Given the description of an element on the screen output the (x, y) to click on. 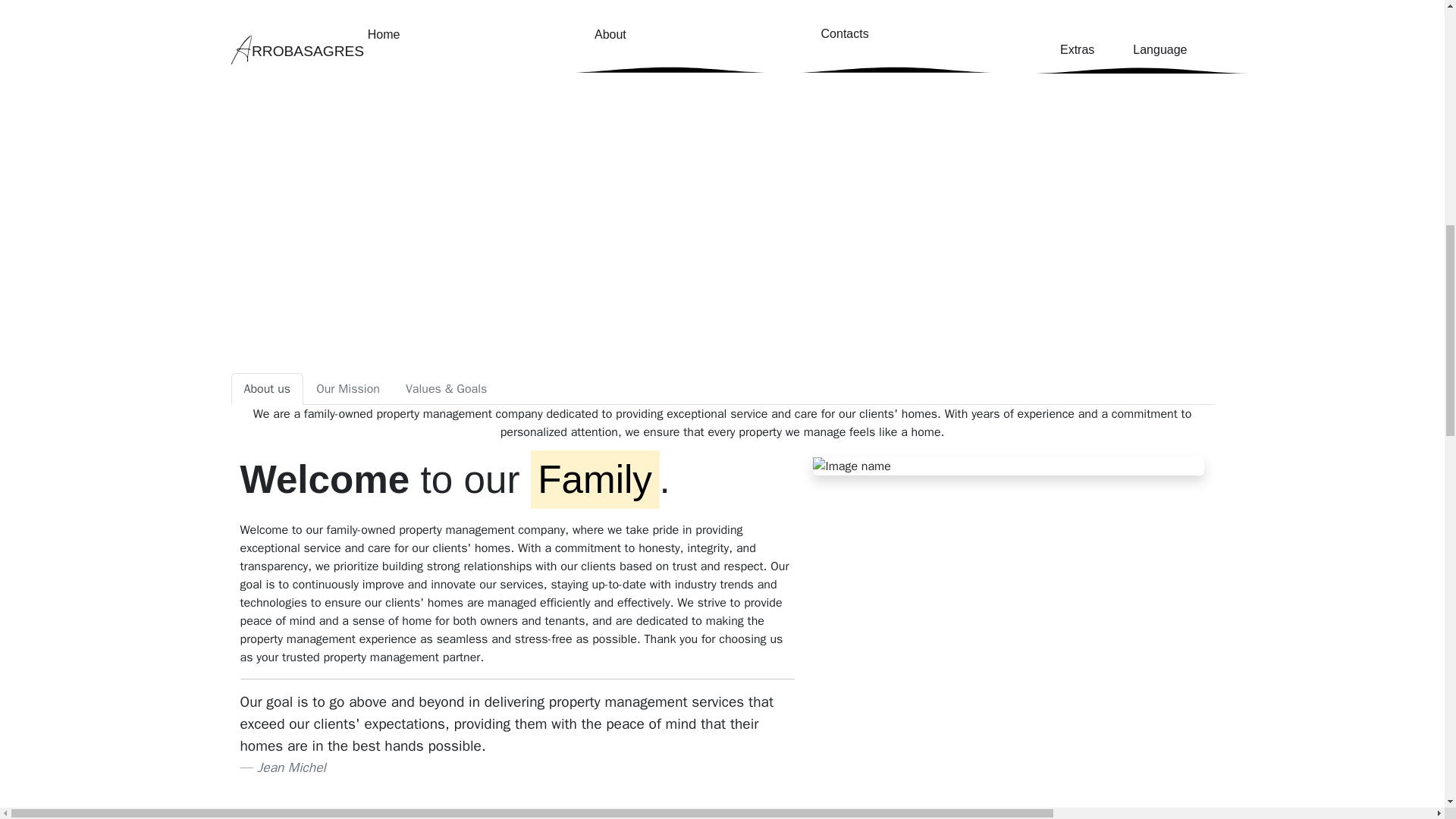
Our Mission (347, 388)
Source Title (291, 767)
About us (266, 388)
